Given the description of an element on the screen output the (x, y) to click on. 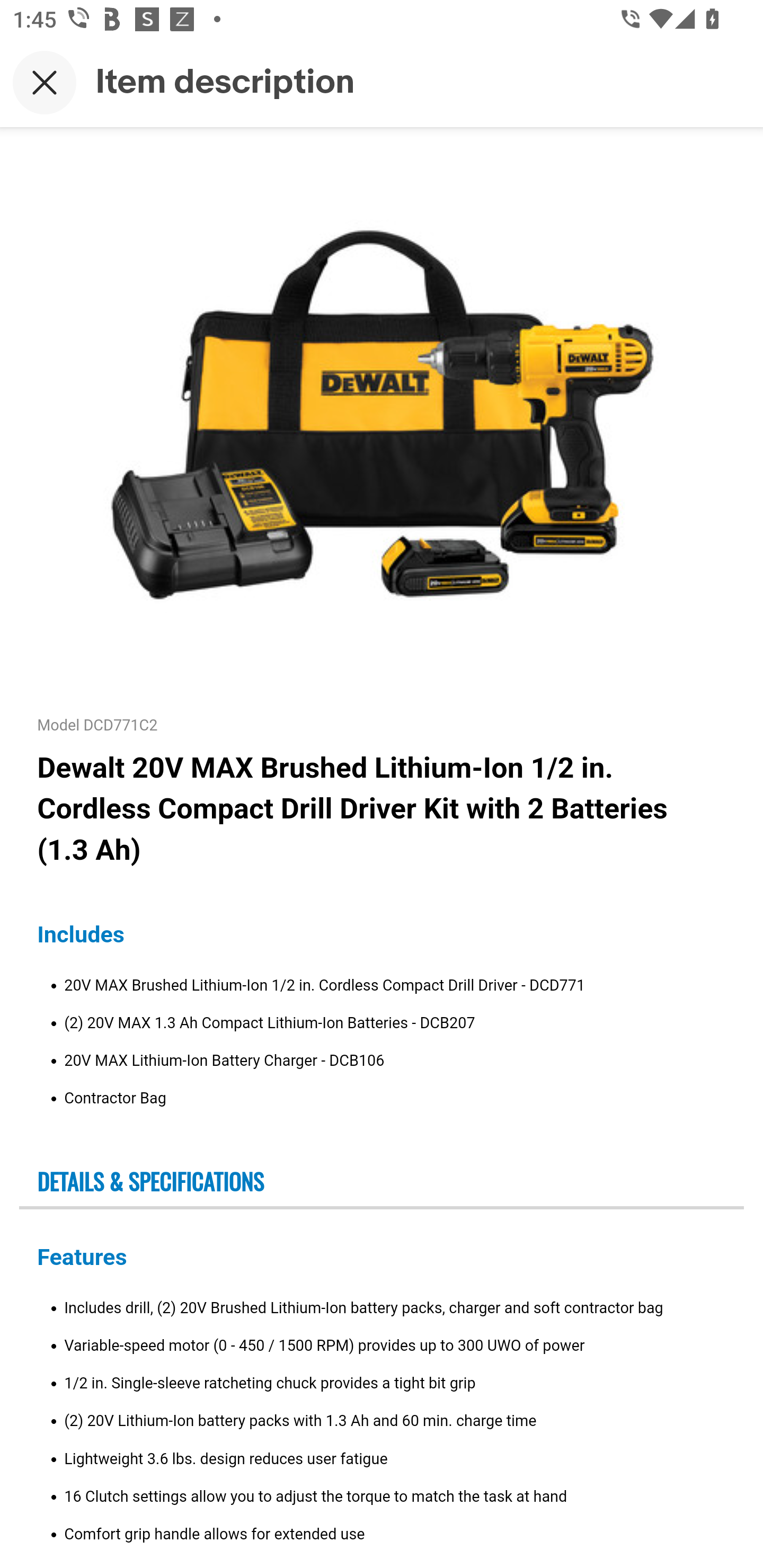
Close (44, 82)
